Given the description of an element on the screen output the (x, y) to click on. 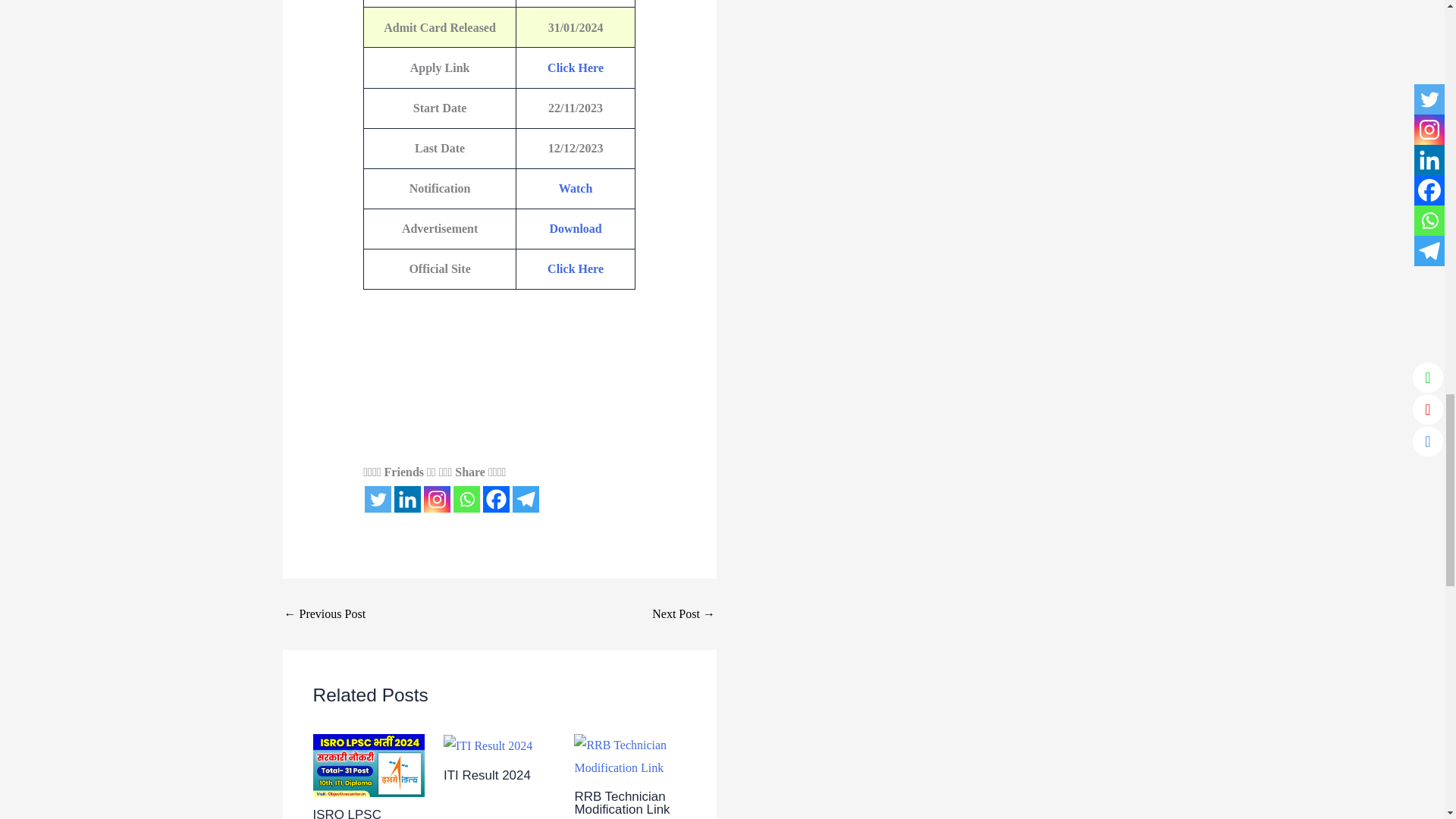
Watch (575, 187)
Instagram (436, 499)
Linkedin (407, 499)
Twitter (378, 499)
Whatsapp (466, 499)
Facebook (496, 499)
Click Here (575, 67)
Click Here (575, 268)
Download (574, 228)
